Given the description of an element on the screen output the (x, y) to click on. 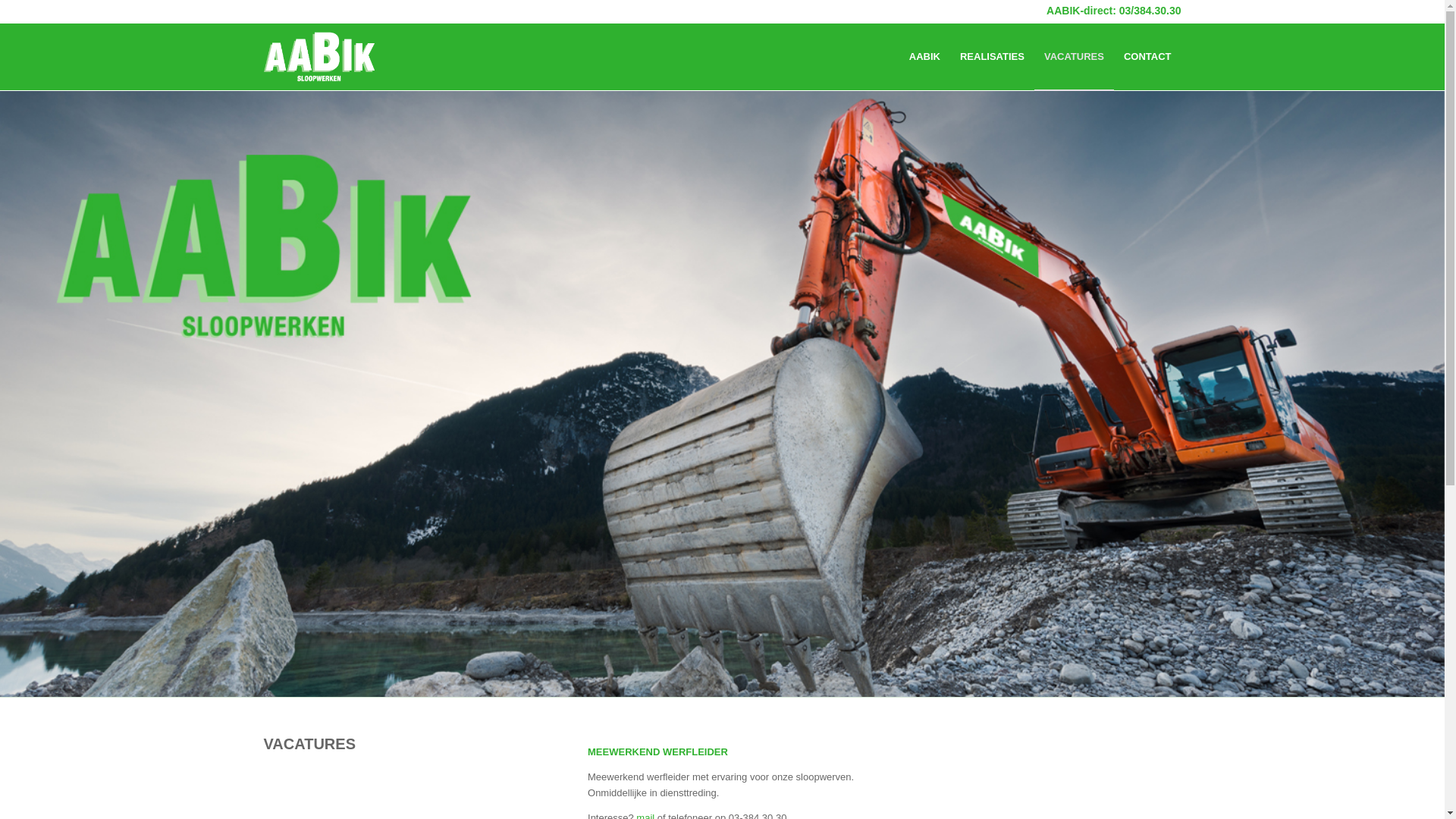
REALISATIES Element type: text (992, 56)
VACATURES Element type: text (1073, 56)
CONTACT Element type: text (1147, 56)
AABIK Element type: text (924, 56)
